Given the description of an element on the screen output the (x, y) to click on. 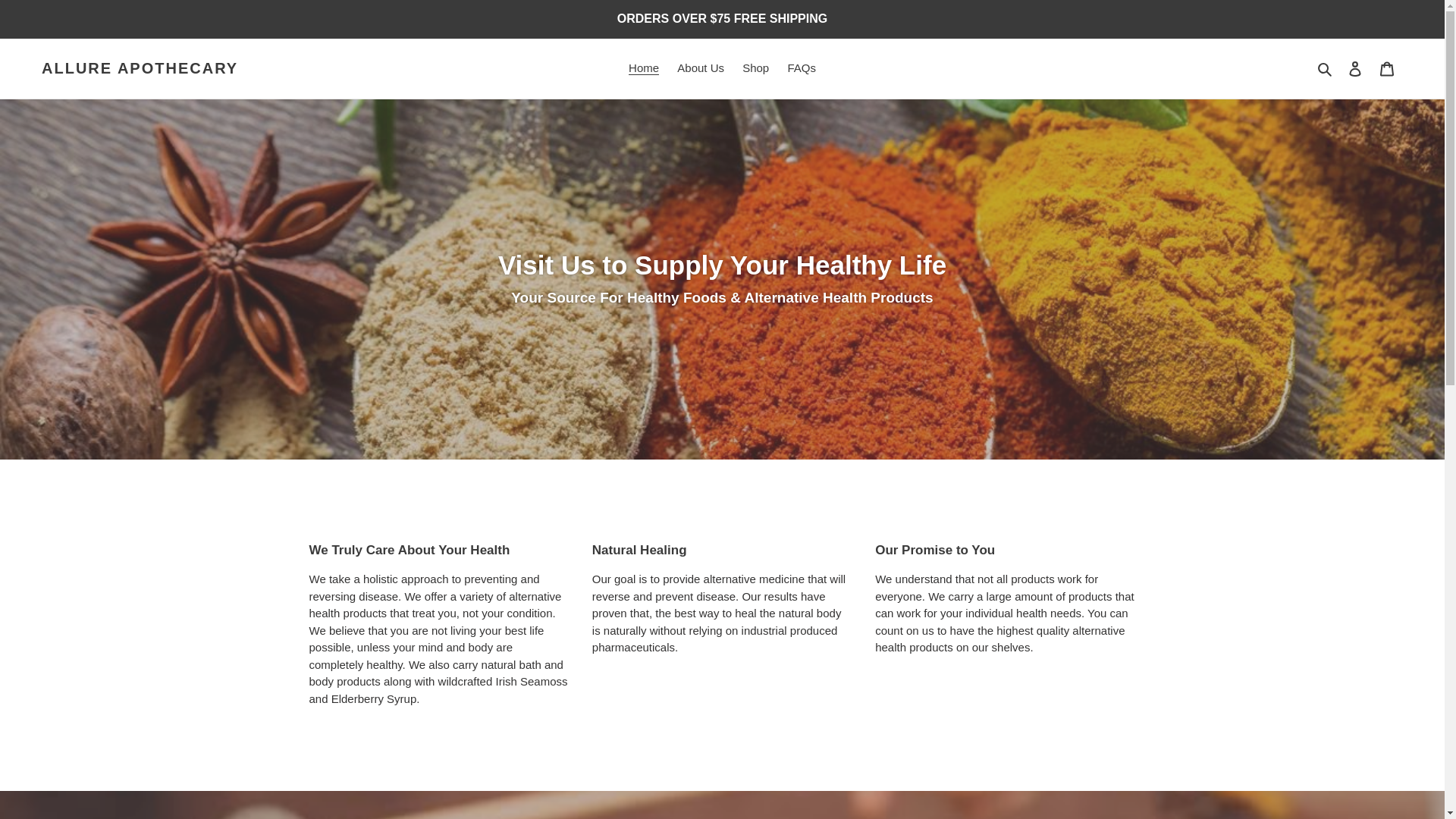
Shop (755, 68)
Cart (1387, 68)
FAQs (801, 68)
About Us (700, 68)
Search (1326, 67)
Log in (1355, 68)
Home (643, 68)
ALLURE APOTHECARY (140, 67)
